Given the description of an element on the screen output the (x, y) to click on. 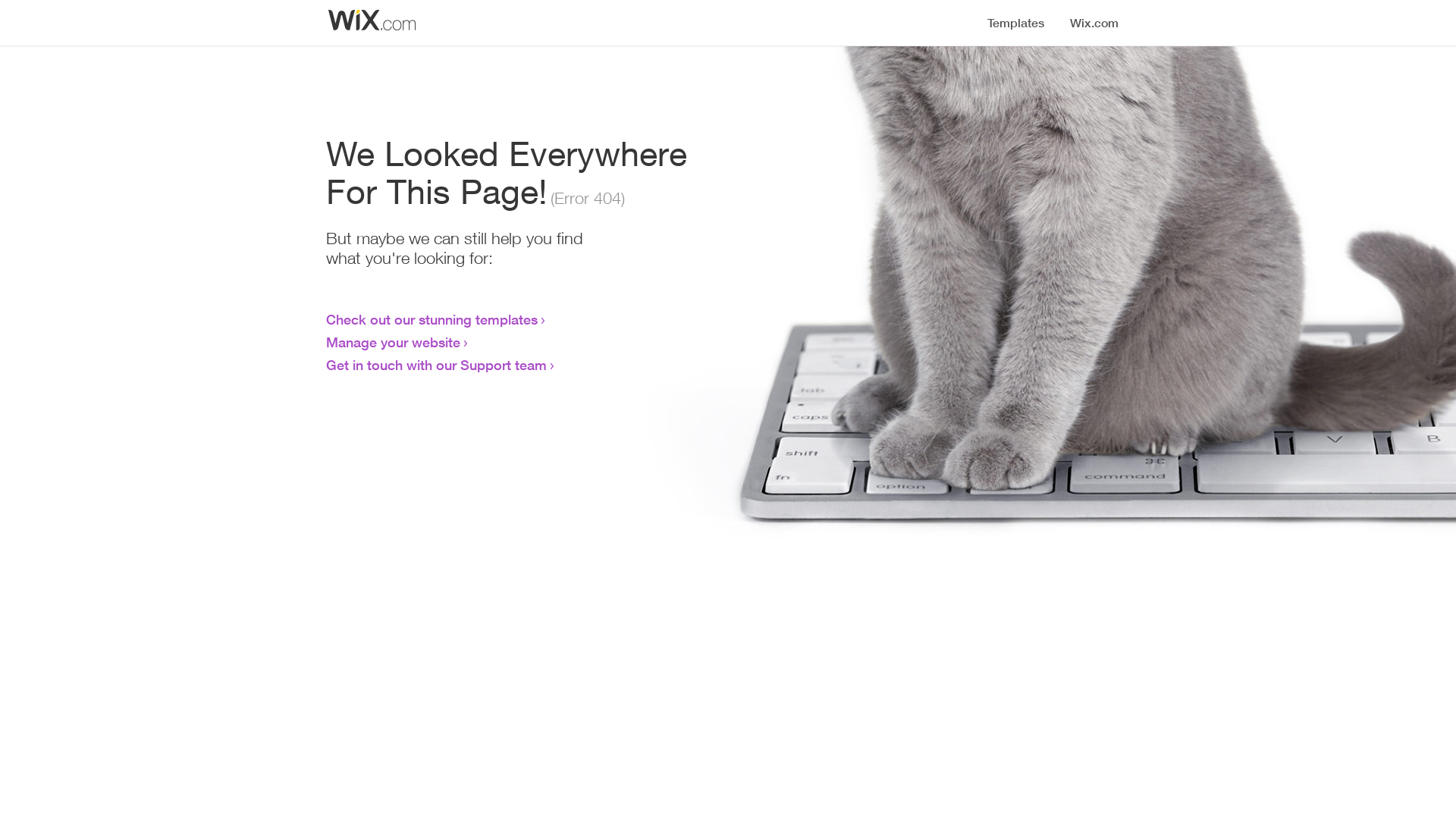
Get in touch with our Support team Element type: text (436, 364)
Check out our stunning templates Element type: text (431, 318)
Manage your website Element type: text (393, 341)
